Given the description of an element on the screen output the (x, y) to click on. 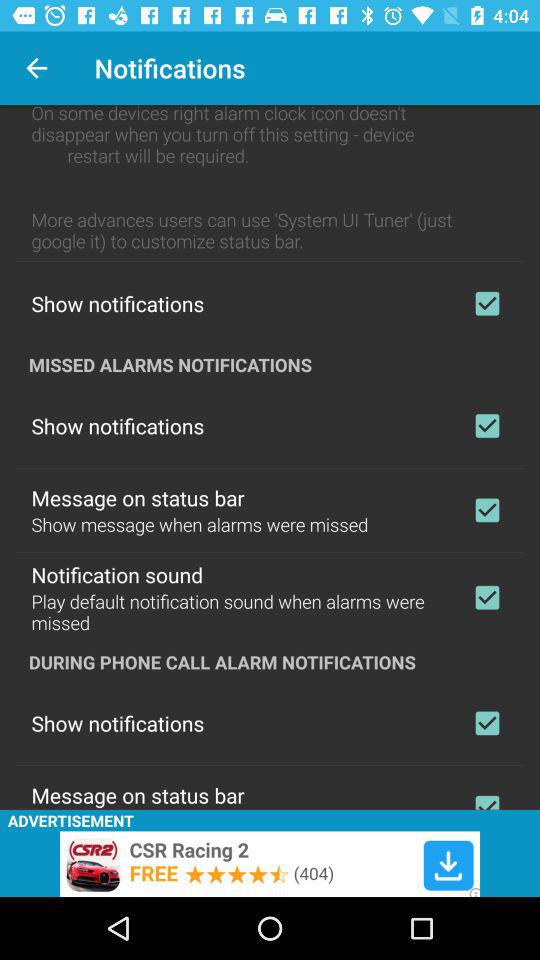
uncheck box (487, 303)
